Given the description of an element on the screen output the (x, y) to click on. 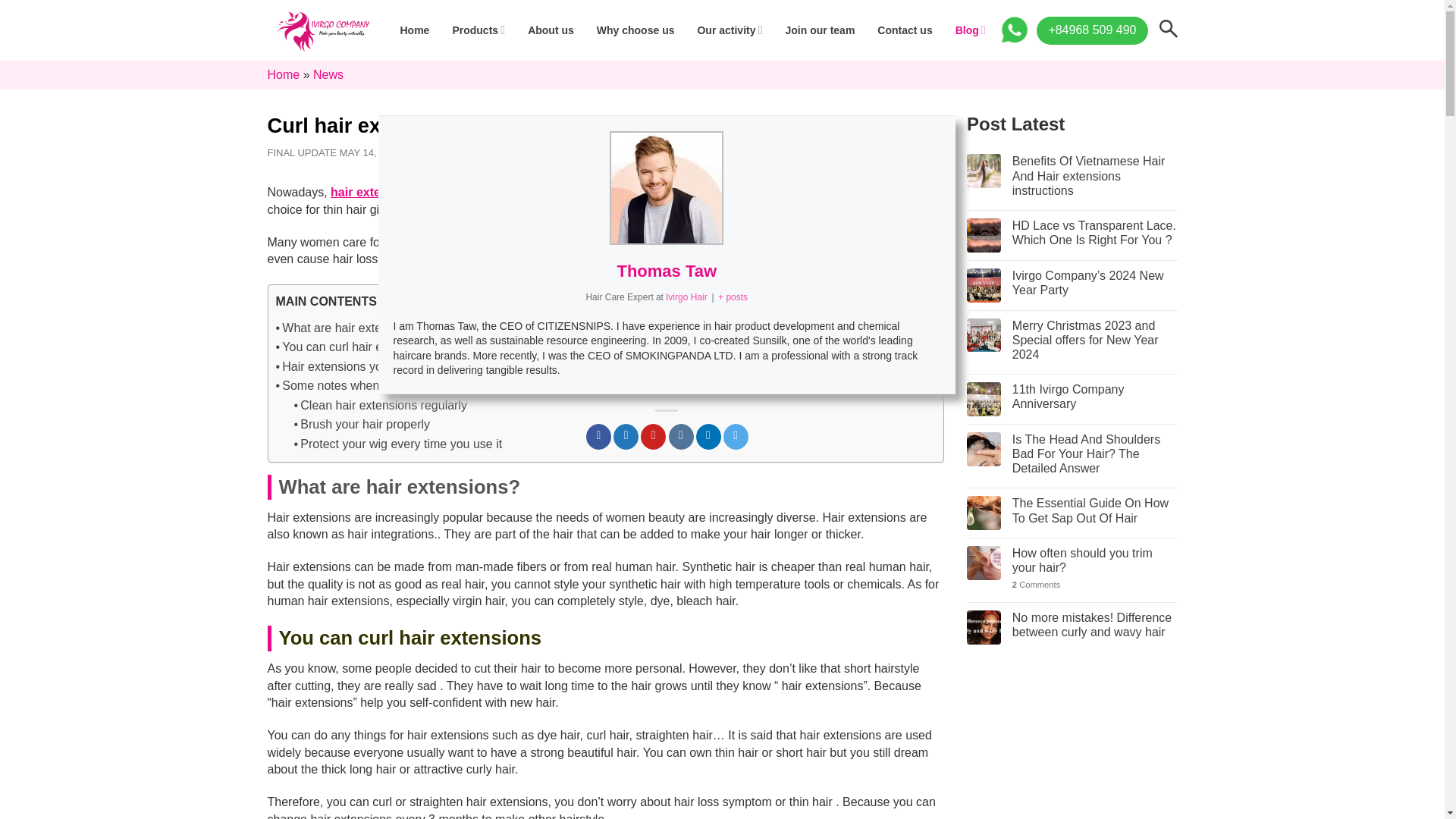
Home (282, 74)
Hair extensions you can curl and straighten (395, 366)
Ivirgo Hair Factory - Wholesale Hair Vendors (321, 29)
Brush your hair properly (362, 424)
Contact us (904, 30)
Join our team (821, 30)
Products (478, 30)
Some notes when using hair extensions (386, 385)
Curl hair extensions and straighten hair extensions (666, 187)
Our activity (729, 30)
wholesale hair vendors (374, 192)
Home (414, 30)
What are hair extensions? (349, 328)
About us (550, 30)
